Given the description of an element on the screen output the (x, y) to click on. 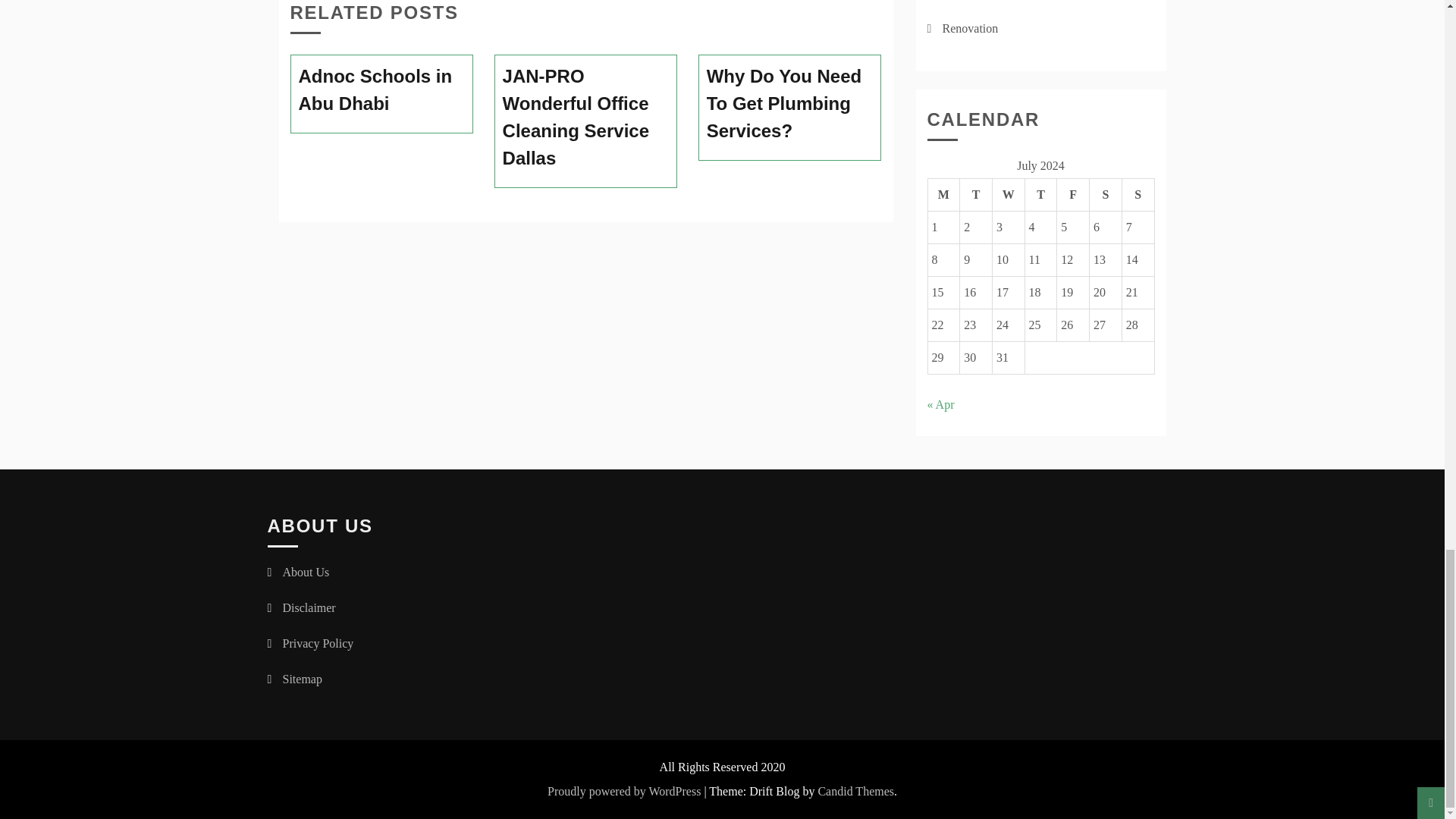
Tuesday (975, 194)
Wednesday (1008, 194)
Sunday (1137, 194)
Adnoc Schools in Abu Dhabi (381, 90)
Saturday (1105, 194)
Friday (1073, 194)
Why Do You Need To Get Plumbing Services? (789, 103)
JAN-PRO Wonderful Office Cleaning Service Dallas (585, 117)
Thursday (1041, 194)
Monday (943, 194)
